Given the description of an element on the screen output the (x, y) to click on. 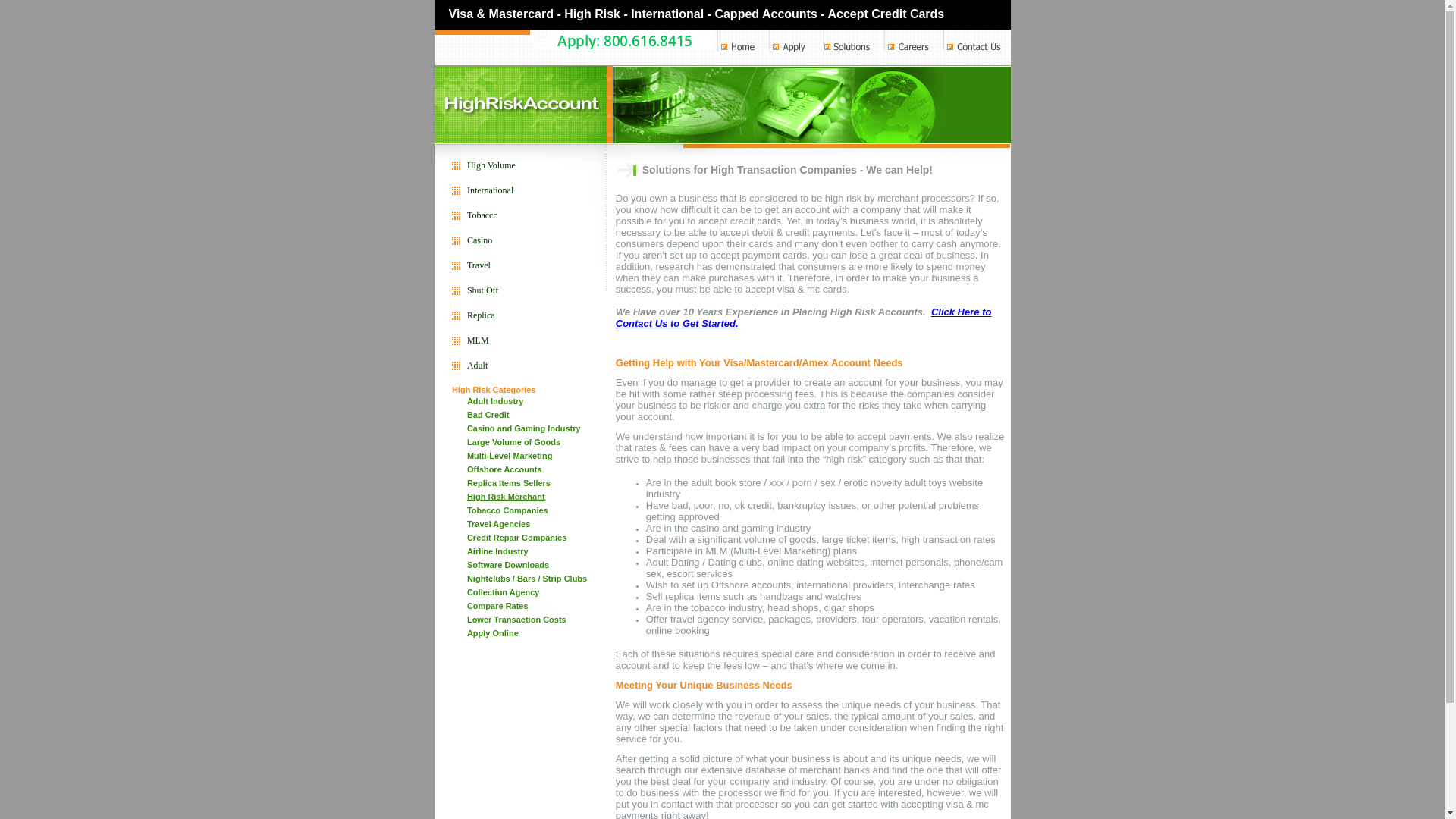
Travel (478, 265)
Casino (479, 240)
High Volume (491, 164)
Tobacco (482, 214)
Adult (477, 365)
Shut Off (482, 290)
International (490, 190)
Replica (481, 315)
MLM (478, 339)
Click Here to Contact Us to Get Started. (803, 317)
High Risk Merchant (505, 496)
